Given the description of an element on the screen output the (x, y) to click on. 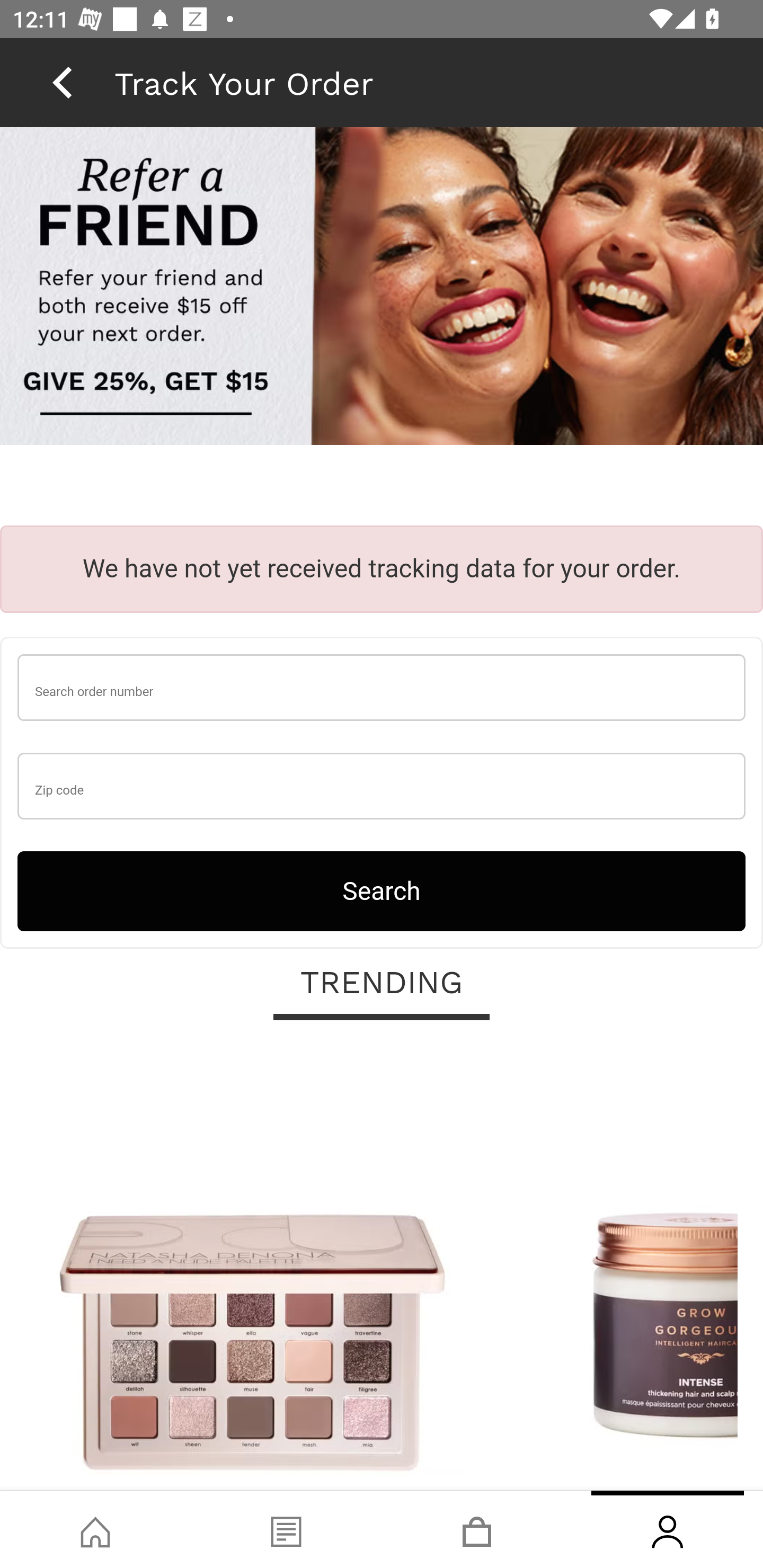
back (61, 82)
raf (381, 288)
Search (381, 890)
TRENDING (381, 983)
Natasha Denona I Need A Nude Palette (252, 1266)
Shop, tab, 1 of 4 (95, 1529)
Blog, tab, 2 of 4 (285, 1529)
Basket, tab, 3 of 4 (476, 1529)
Account, tab, 4 of 4 (667, 1529)
